Given the description of an element on the screen output the (x, y) to click on. 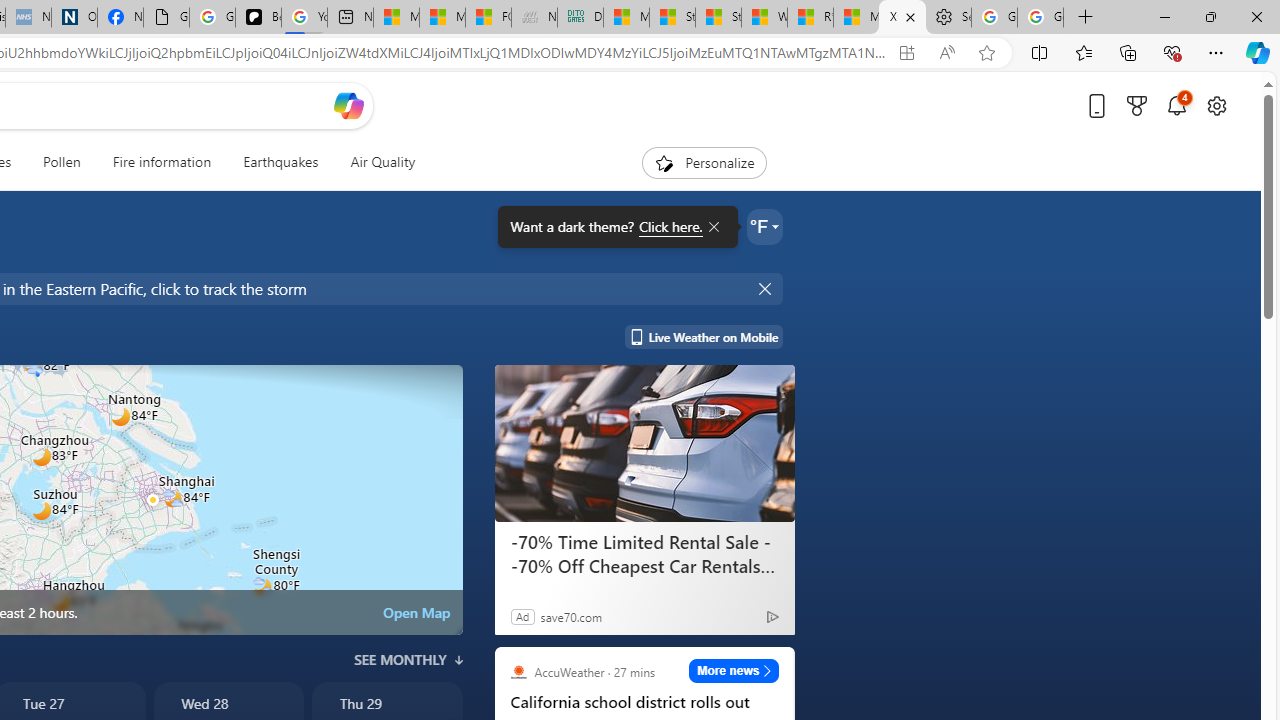
R******* | Trusted Community Engagement and Contributions (810, 17)
App available. Install Microsoft Start Weather (906, 53)
